Given the description of an element on the screen output the (x, y) to click on. 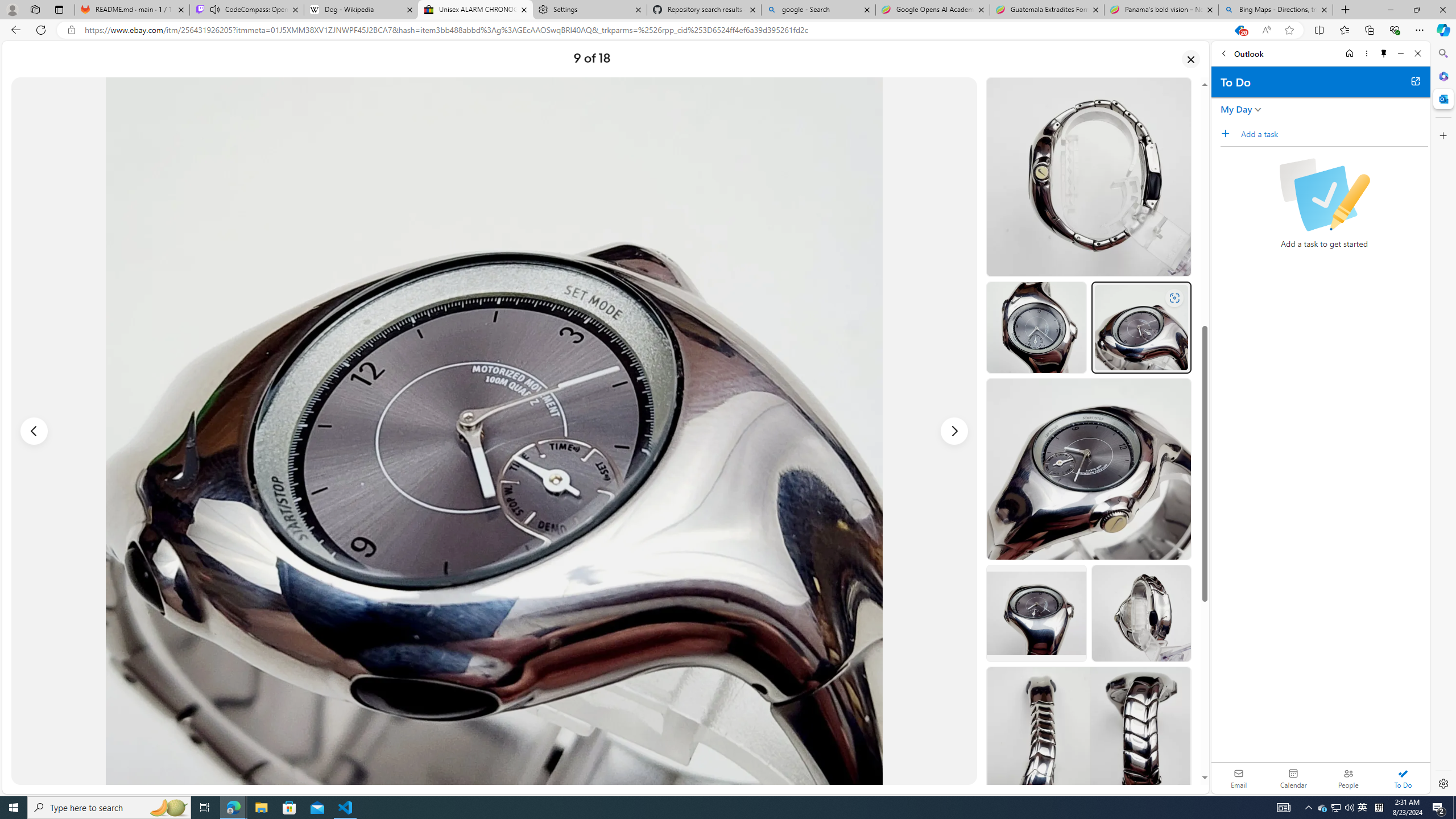
Previous image - Item images thumbnails (34, 430)
Add a task (1334, 133)
Calendar. Date today is 22 (1293, 777)
Open in new tab (1414, 80)
You have the best price! Shopping in Microsoft Edge, 20 (1239, 29)
